Given the description of an element on the screen output the (x, y) to click on. 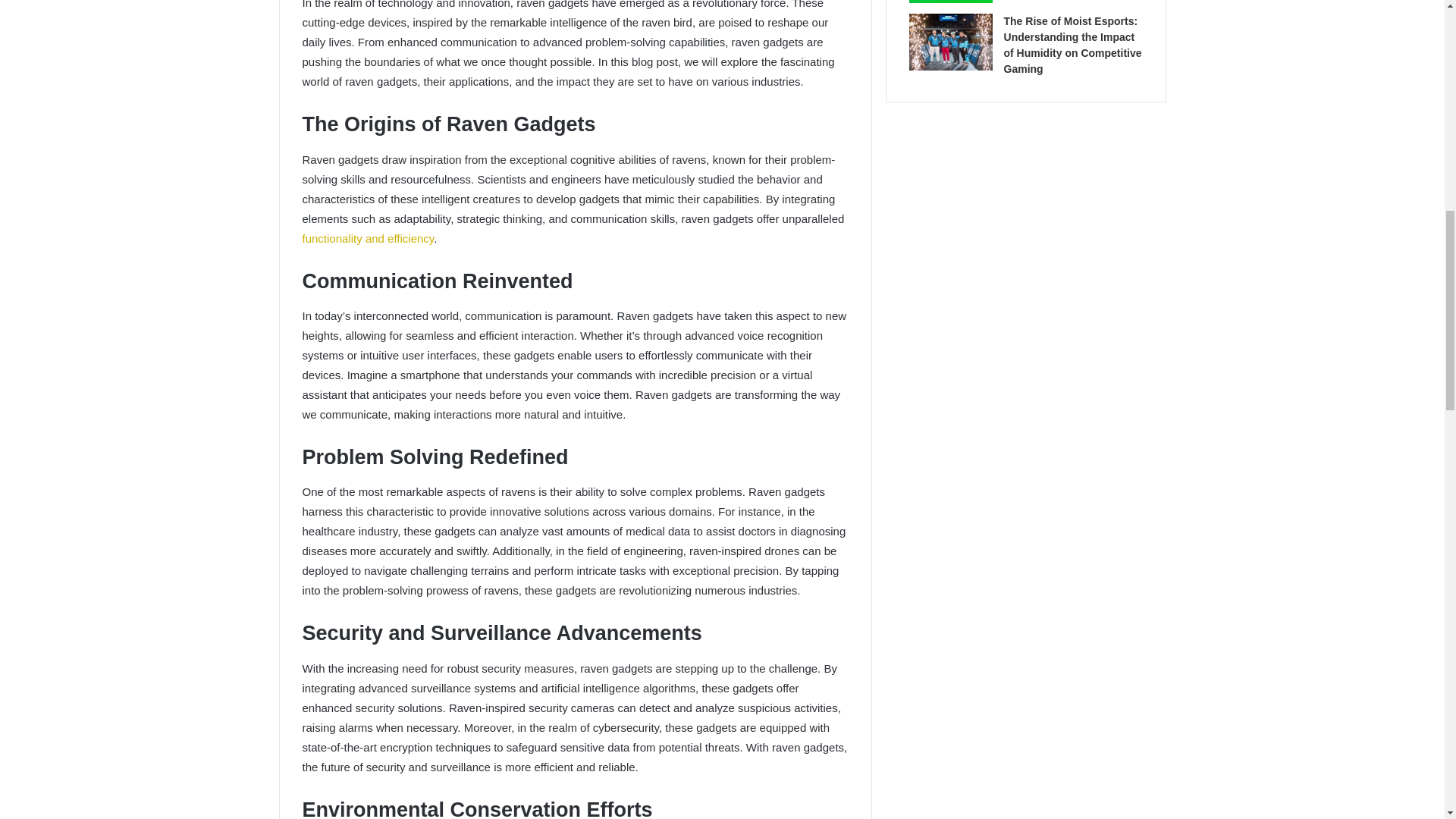
functionality and efficiency (367, 237)
